Given the description of an element on the screen output the (x, y) to click on. 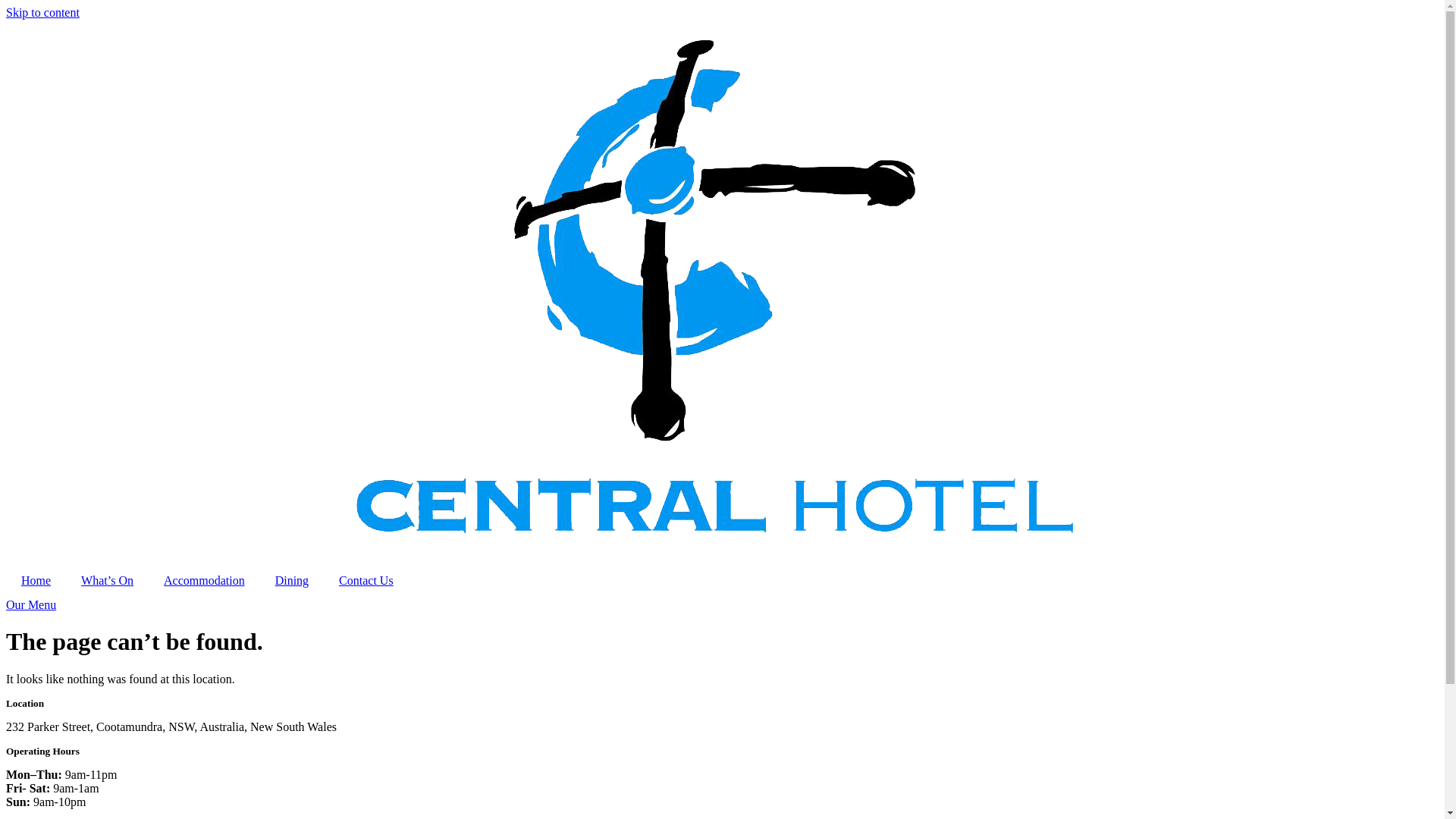
Our Menu Element type: text (31, 604)
Accommodation Element type: text (204, 580)
Dining Element type: text (291, 580)
Home Element type: text (35, 580)
Contact Us Element type: text (365, 580)
Skip to content Element type: text (42, 12)
